Given the description of an element on the screen output the (x, y) to click on. 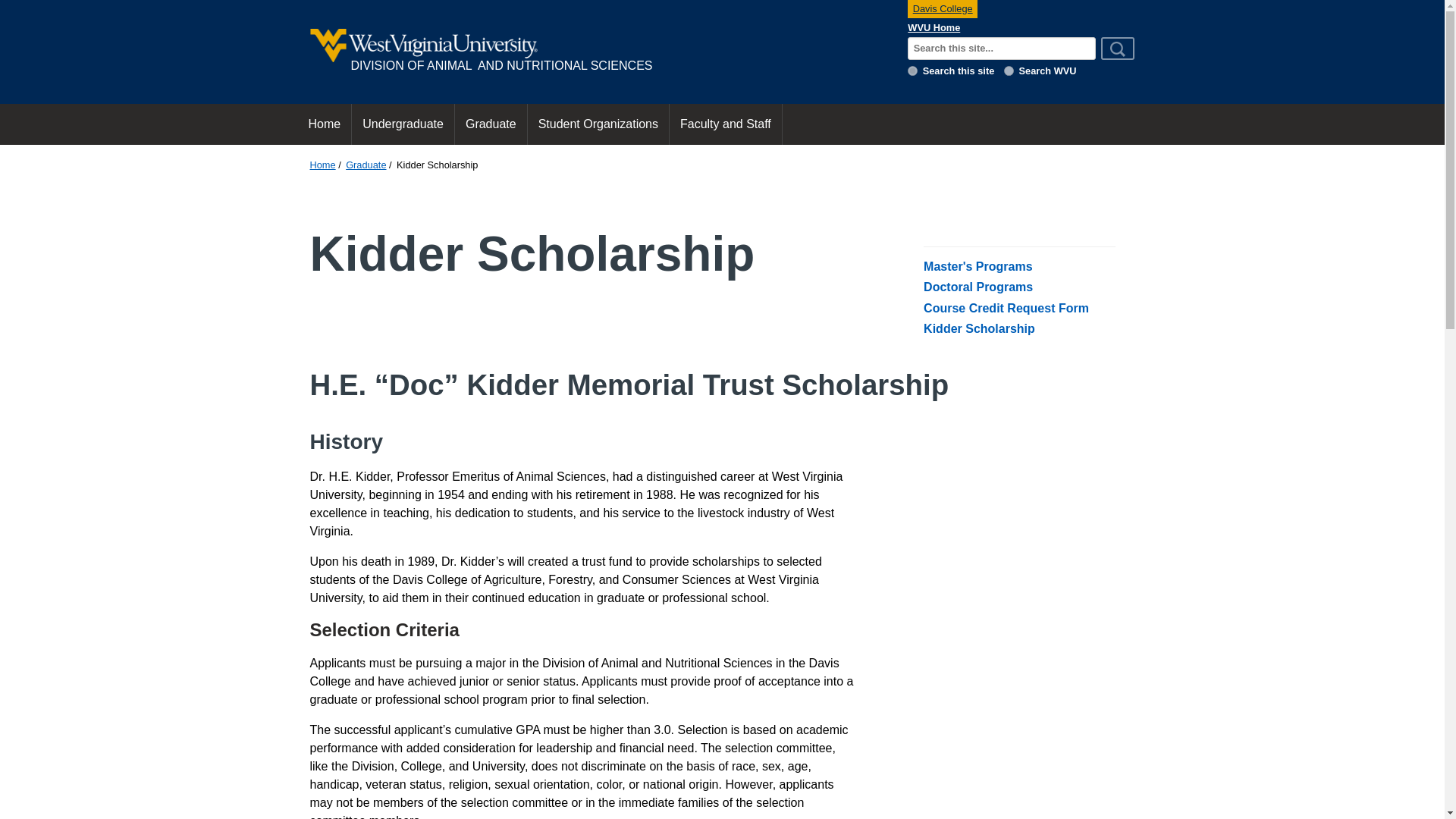
Davis College (941, 9)
Student Organizations (597, 124)
Graduate (365, 164)
DIVISION OF ANIMAL  AND NUTRITIONAL SCIENCES (598, 52)
Master's Programs (977, 266)
Search (1117, 47)
Home (323, 124)
Course Credit Request Form (1006, 308)
Faculty and Staff (725, 124)
wvu.edu (1008, 71)
